Given the description of an element on the screen output the (x, y) to click on. 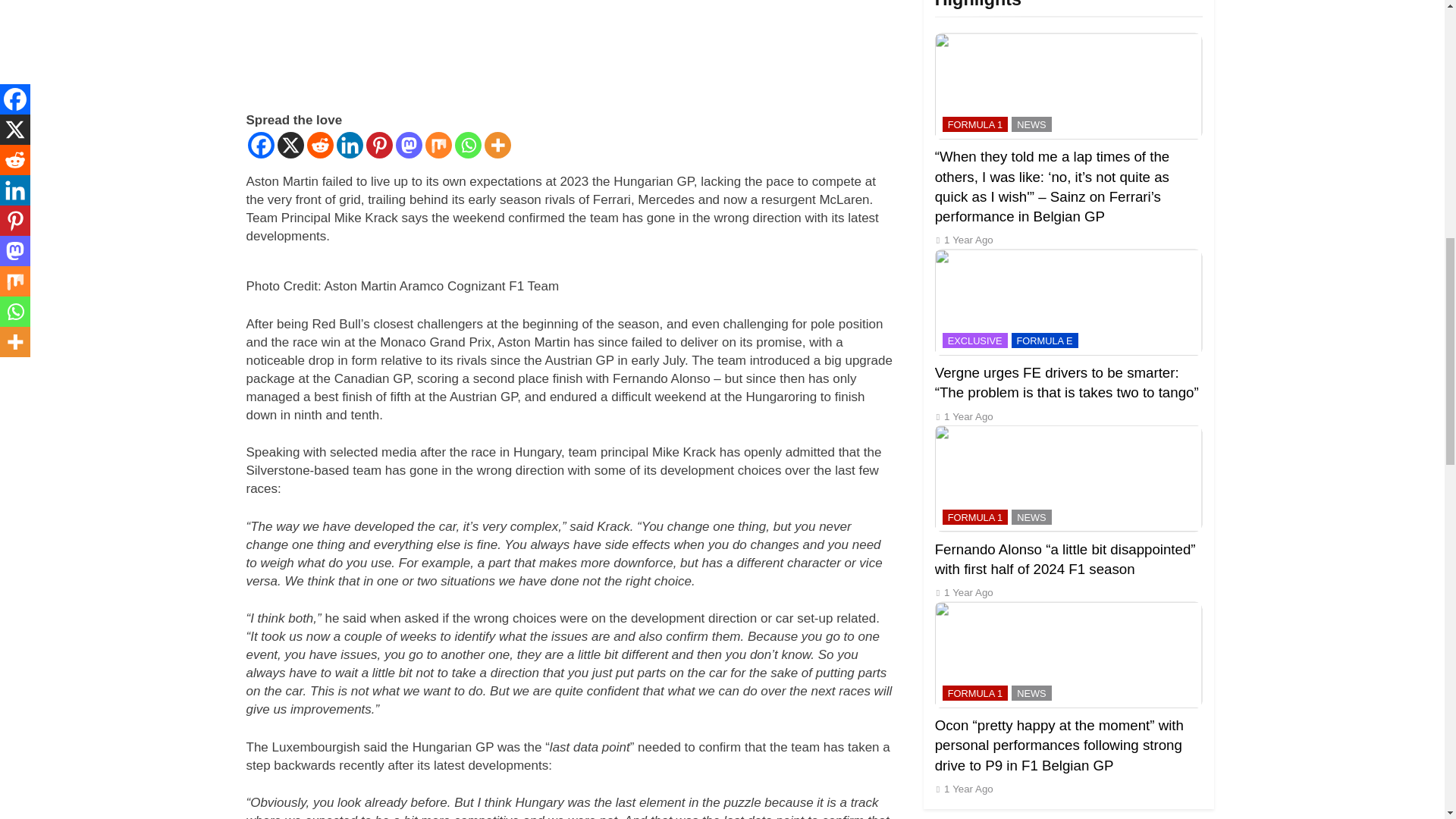
Whatsapp (467, 144)
Reddit (319, 144)
Pinterest (378, 144)
More (497, 144)
Facebook (260, 144)
Mix (438, 144)
Linkedin (349, 144)
X (291, 144)
Mastodon (409, 144)
